Given the description of an element on the screen output the (x, y) to click on. 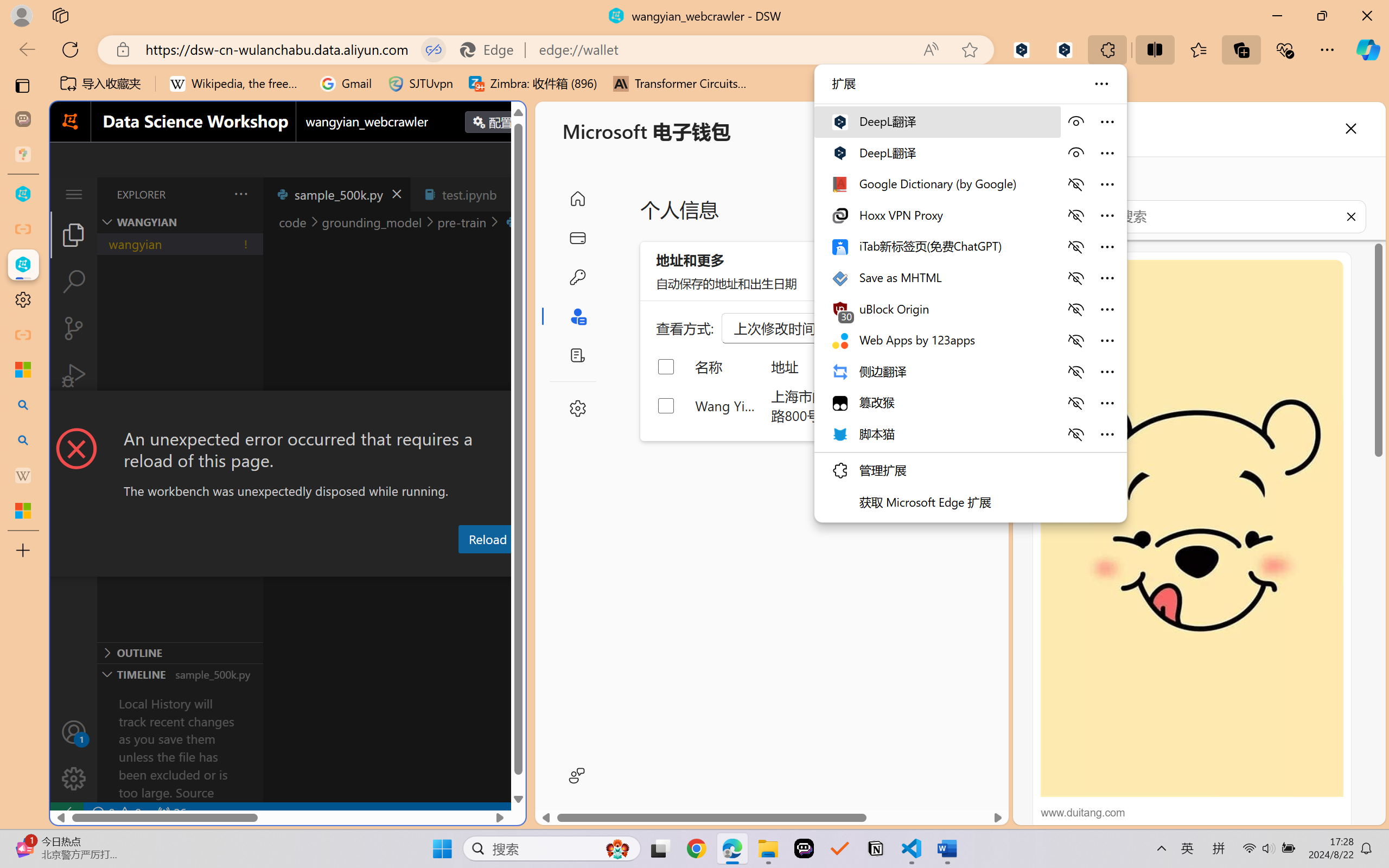
Google Chrome (696, 848)
